Given the description of an element on the screen output the (x, y) to click on. 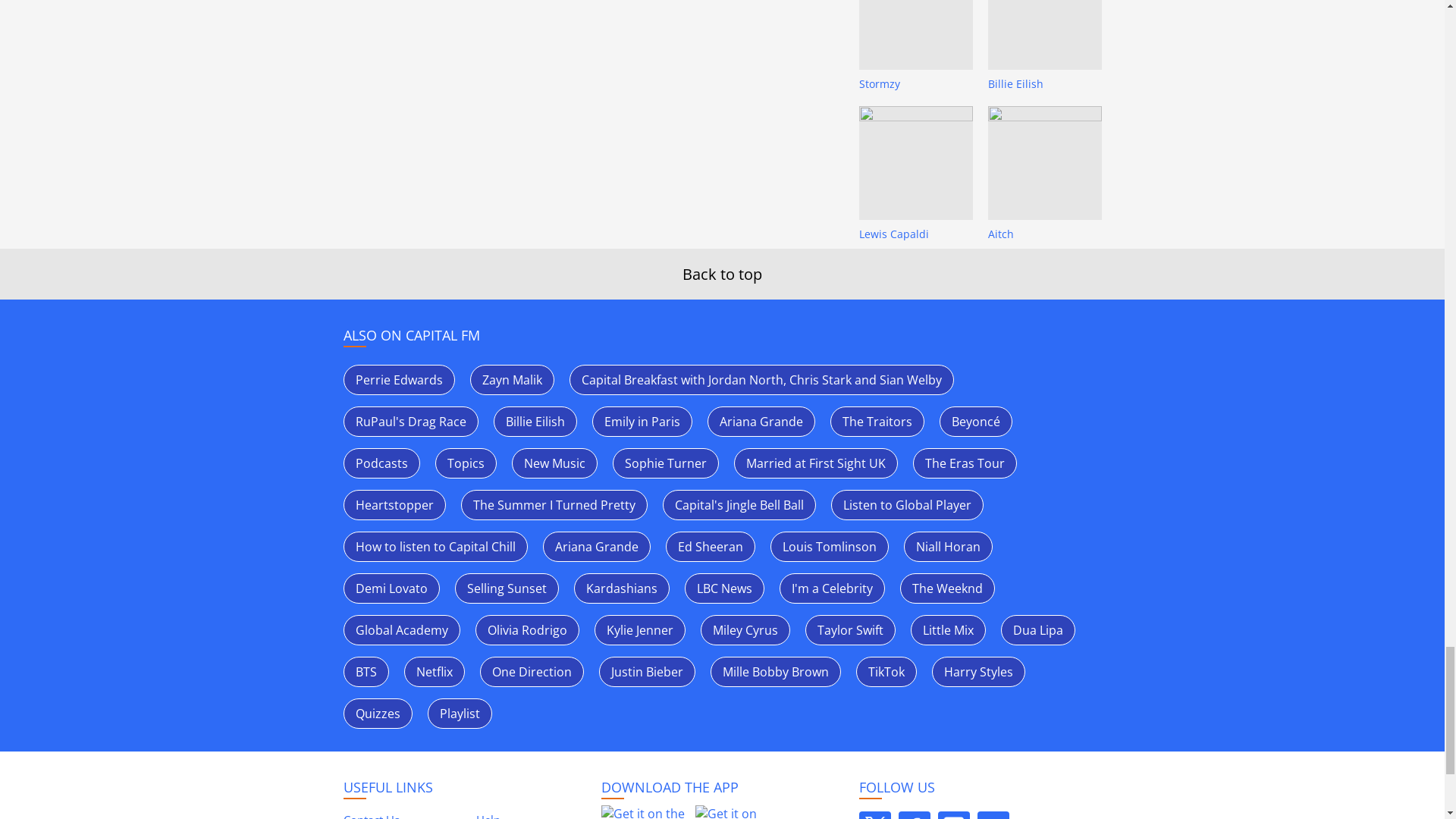
Follow Capital on X (874, 815)
Follow Capital on Youtube (992, 815)
Follow Capital on Instagram (953, 815)
Follow Capital on Facebook (914, 815)
Back to top (721, 273)
